Given the description of an element on the screen output the (x, y) to click on. 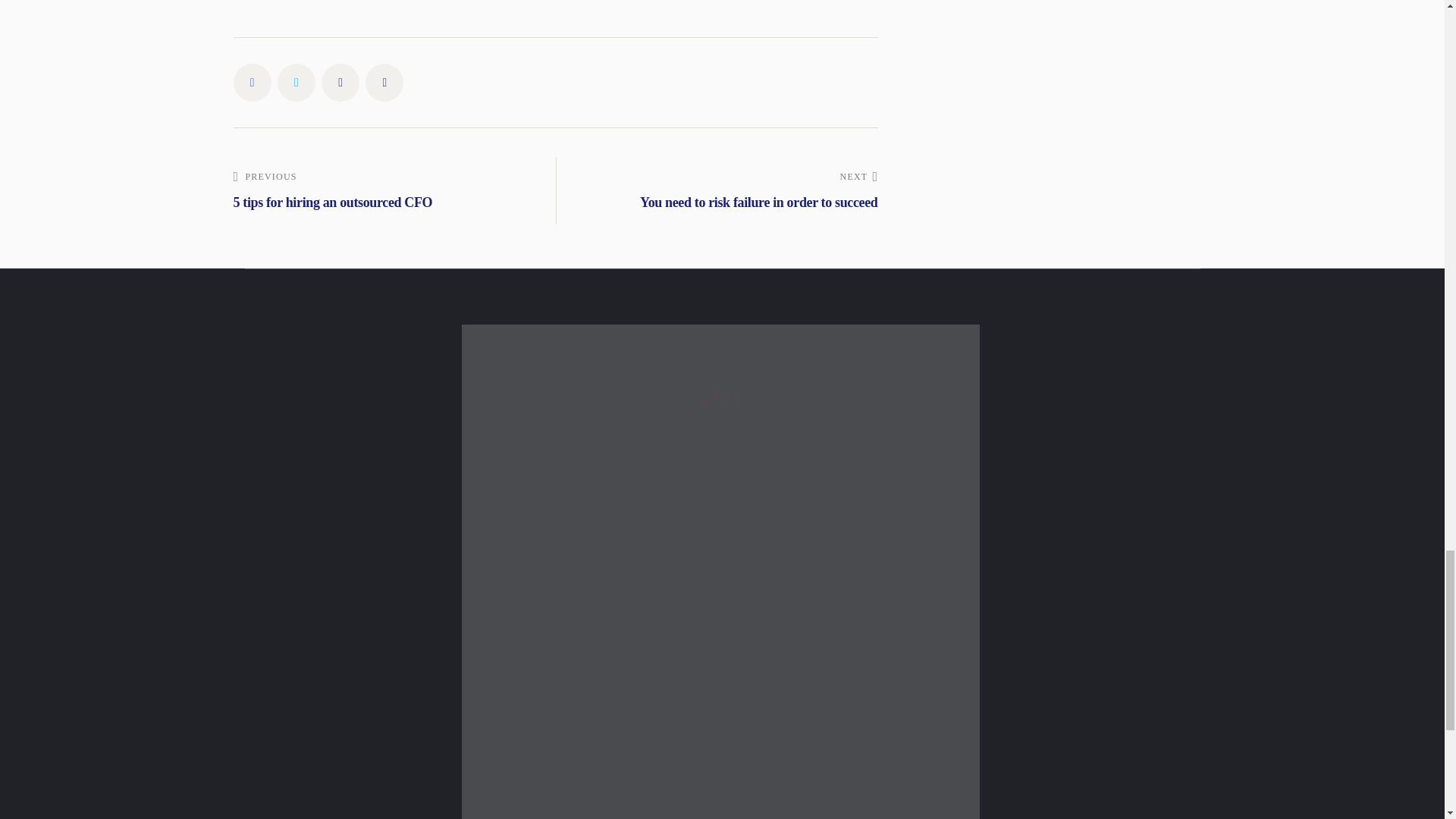
Copy URL to clipboard (384, 82)
